Given the description of an element on the screen output the (x, y) to click on. 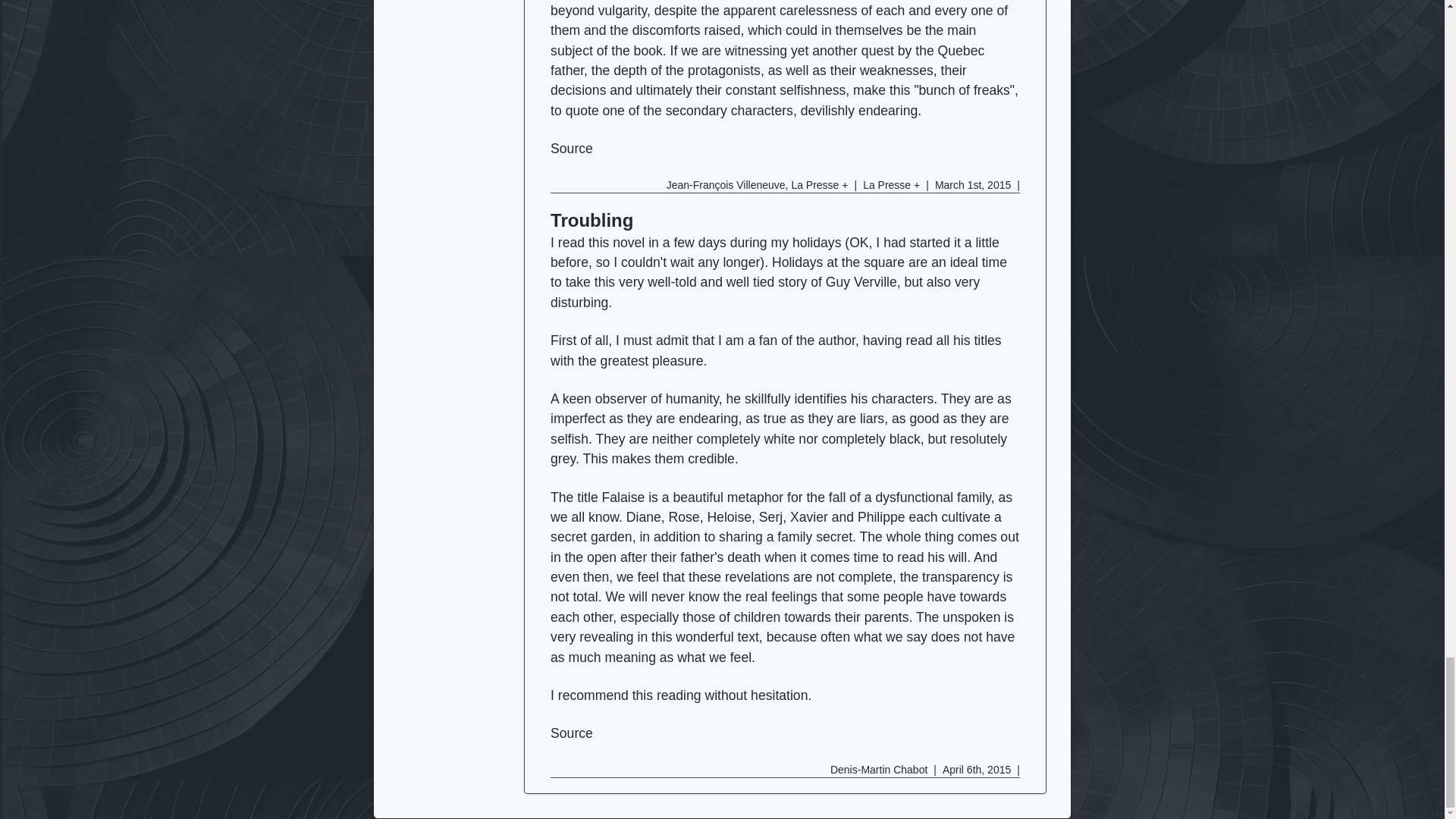
Source (571, 733)
Source (571, 148)
